Given the description of an element on the screen output the (x, y) to click on. 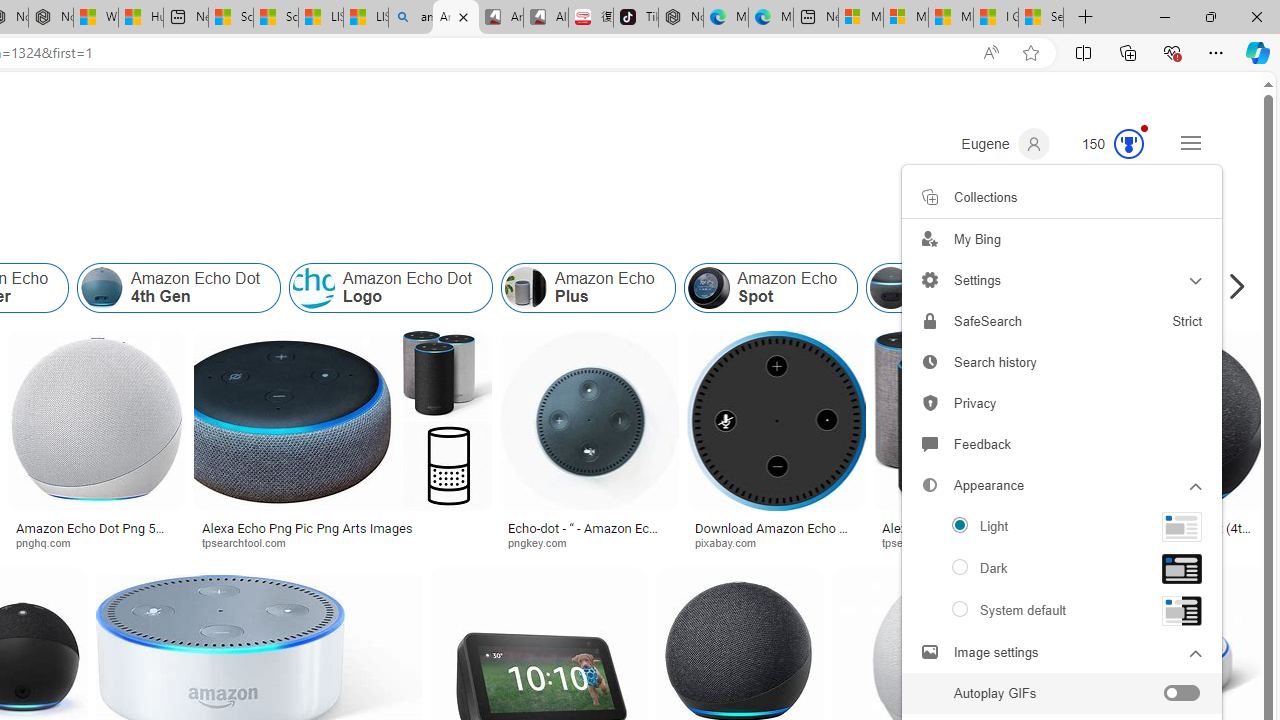
SafeSearch Strict (1062, 321)
System default (1062, 610)
Alexa Echo Png Pic Png Arts Images (976, 534)
Microsoft Rewards 147 (1105, 143)
Dark (1062, 568)
Amazon Echo Dot 4th Gen (179, 287)
Echo Dot Generations (1103, 287)
pixabay.com (732, 541)
